Given the description of an element on the screen output the (x, y) to click on. 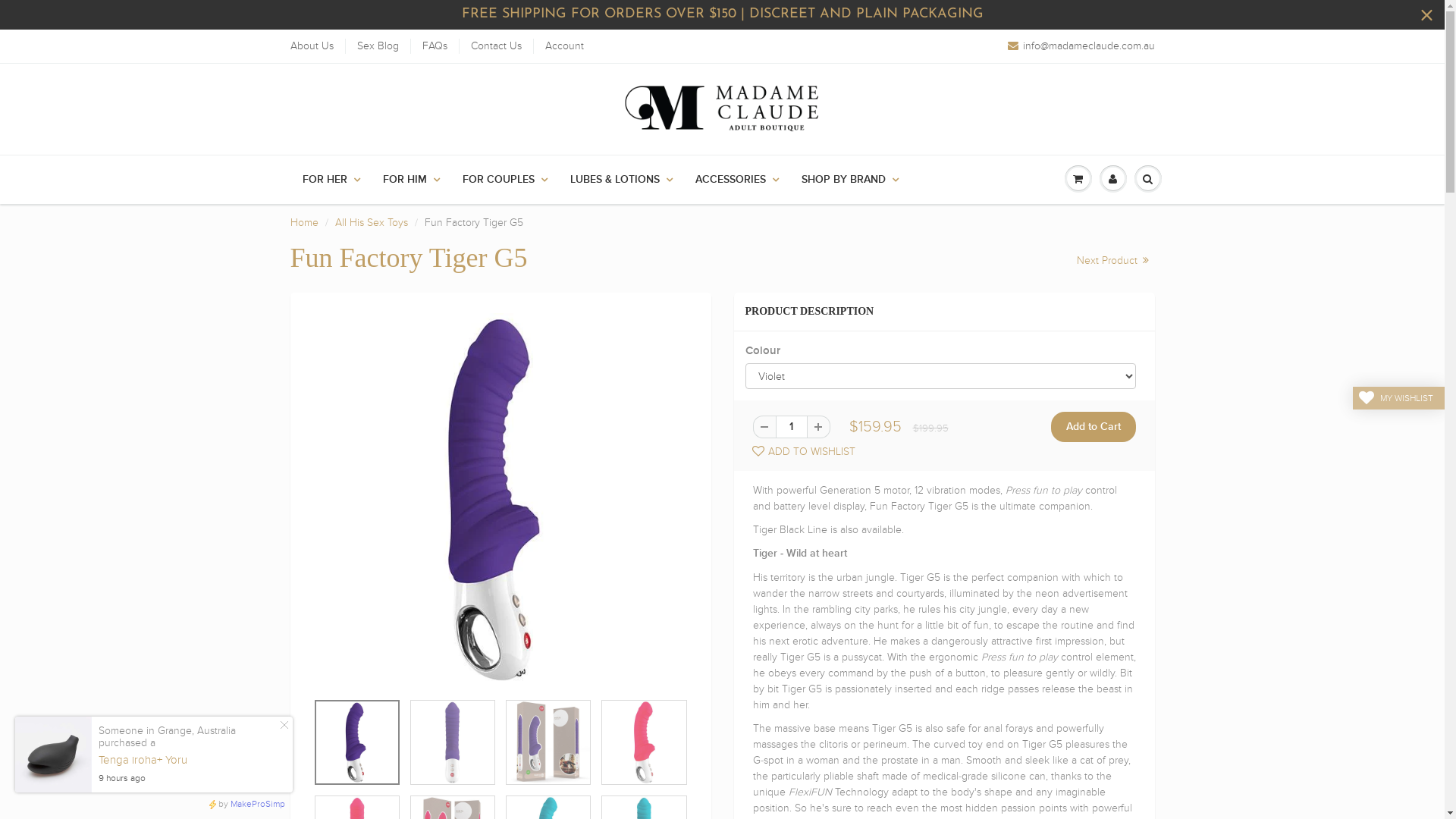
Add to Cart Element type: text (1093, 426)
ADD TO WISHLIST Element type: text (800, 451)
FOR HER Element type: text (331, 179)
All His Sex Toys Element type: text (371, 222)
Contact Us Element type: text (495, 45)
by MakeProSimp Element type: text (245, 803)
SHOP BY BRAND Element type: text (850, 179)
LUBES & LOTIONS Element type: text (620, 179)
FAQs Element type: text (433, 45)
Next Product Element type: text (1113, 260)
FOR HIM Element type: text (411, 179)
info@madameclaude.com.au Element type: text (1080, 45)
FOR COUPLES Element type: text (504, 179)
MY WISHLIST Element type: text (1398, 397)
ACCESSORIES Element type: text (737, 179)
Account Element type: text (563, 45)
Home Element type: text (303, 222)
Fun Factory Tiger G5-Fun Factory-Madame Claude Element type: hover (500, 498)
Sex Blog Element type: text (377, 45)
About Us Element type: text (310, 45)
